Given the description of an element on the screen output the (x, y) to click on. 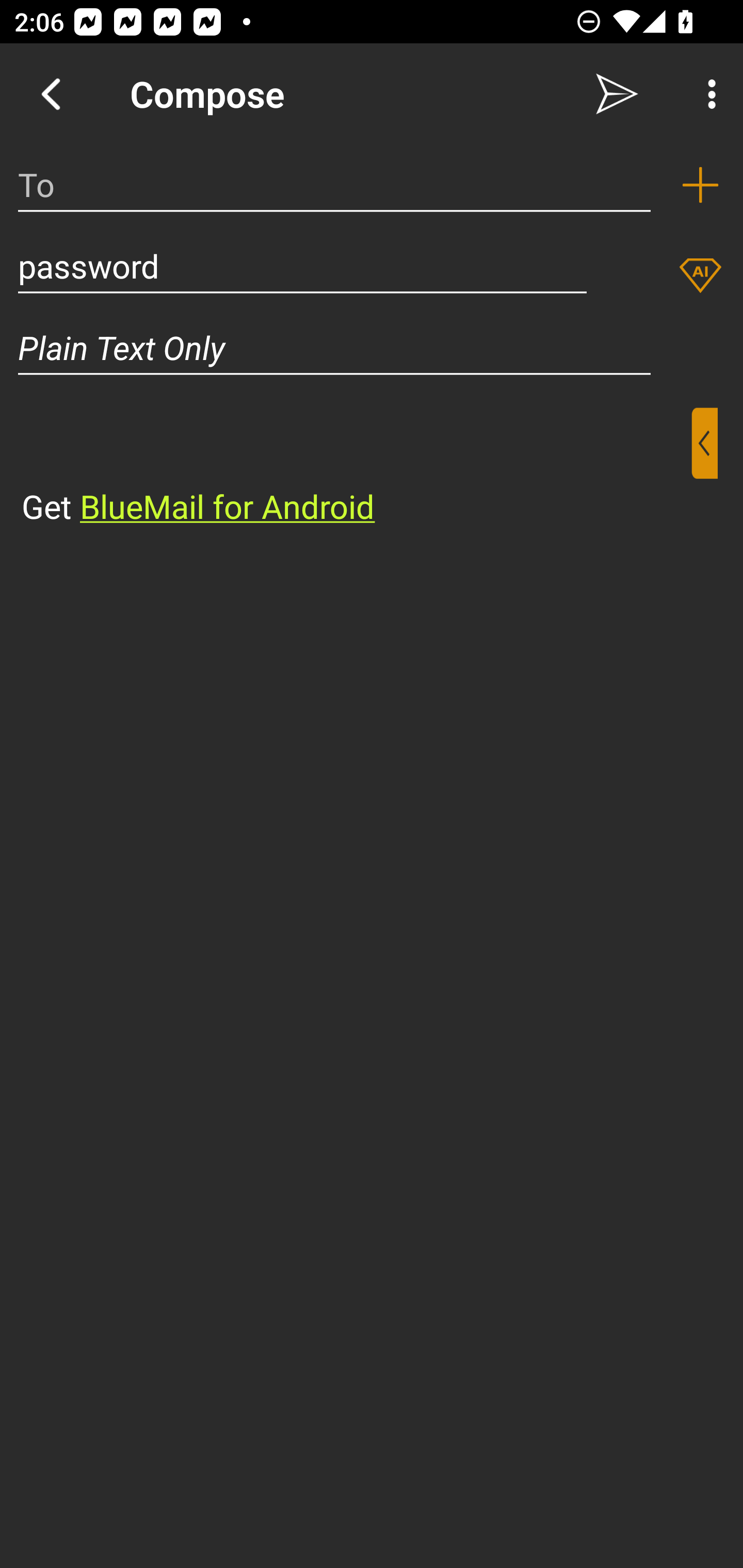
Navigate up (50, 93)
Send (616, 93)
More Options (706, 93)
To (334, 184)
Add recipient (To) (699, 184)
password (302, 266)
Plain Text Only (371, 347)


⁣Get BlueMail for Android ​ (355, 468)
